Given the description of an element on the screen output the (x, y) to click on. 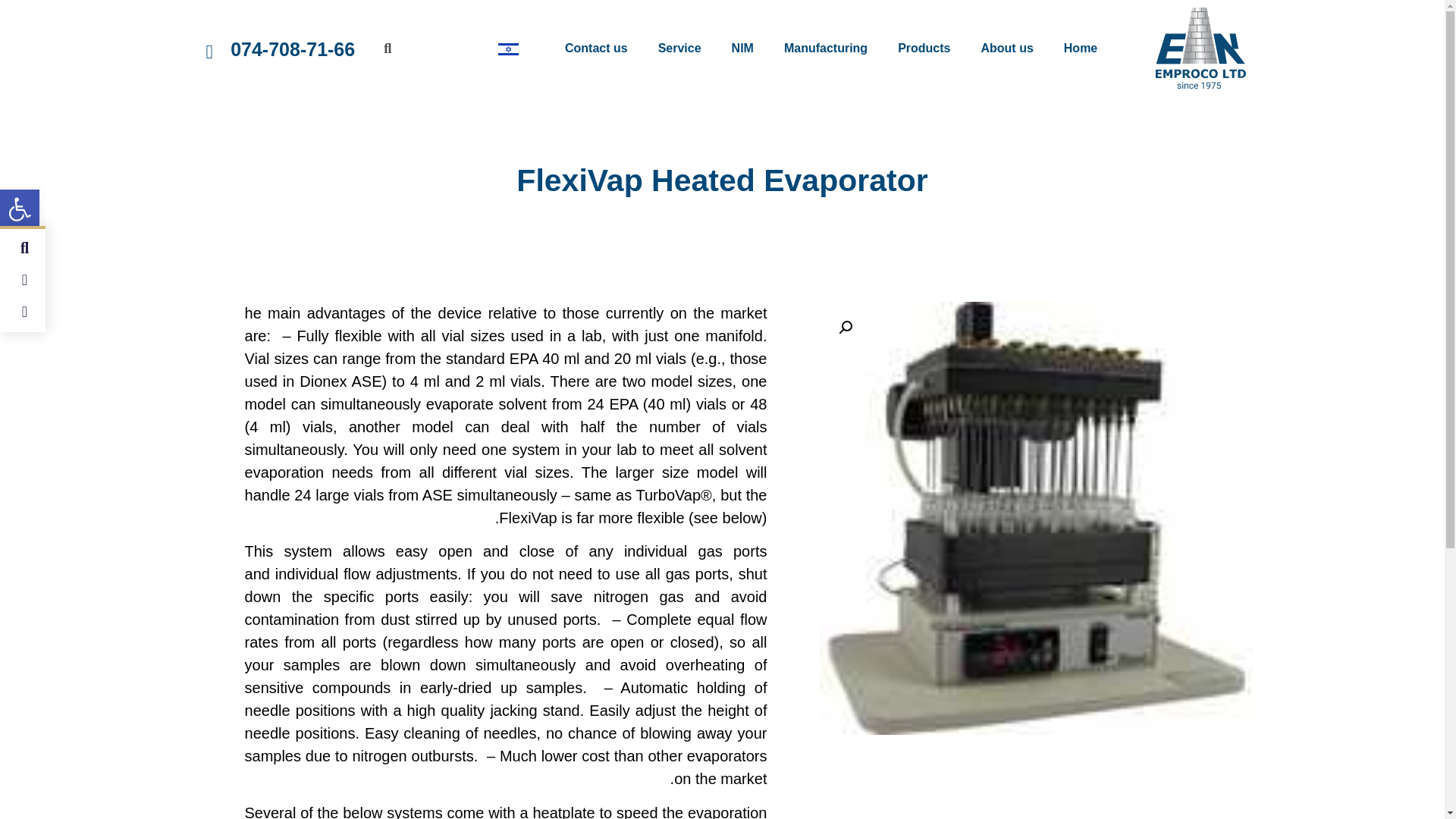
Products (923, 48)
Manufacturing (825, 48)
Contact us (596, 48)
About us (1006, 48)
Home (1080, 48)
NIM (742, 48)
074-708-71-66 (292, 47)
Service (679, 48)
